Given the description of an element on the screen output the (x, y) to click on. 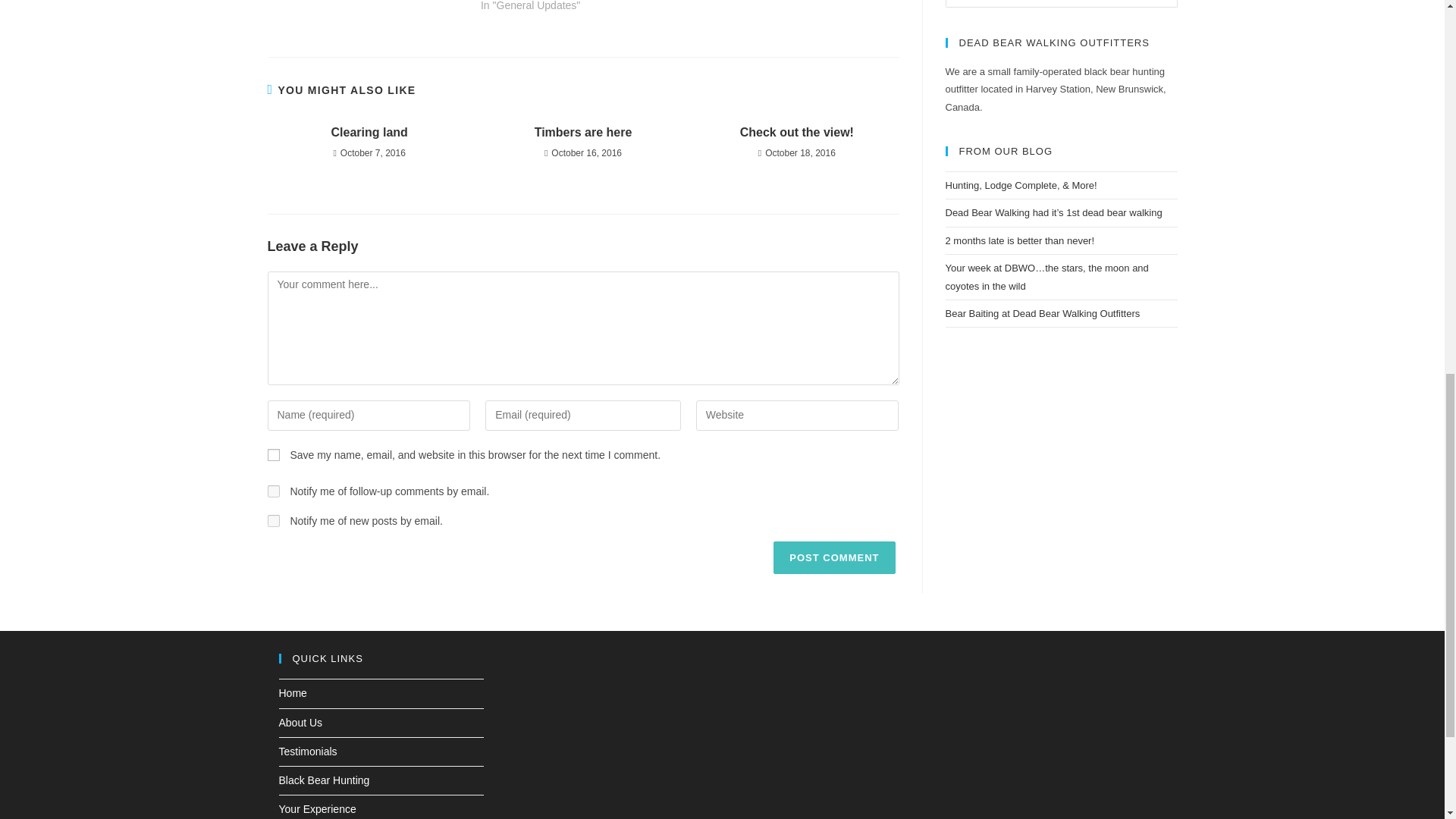
Post Comment (834, 557)
subscribe (272, 521)
yes (272, 454)
subscribe (272, 491)
